Given the description of an element on the screen output the (x, y) to click on. 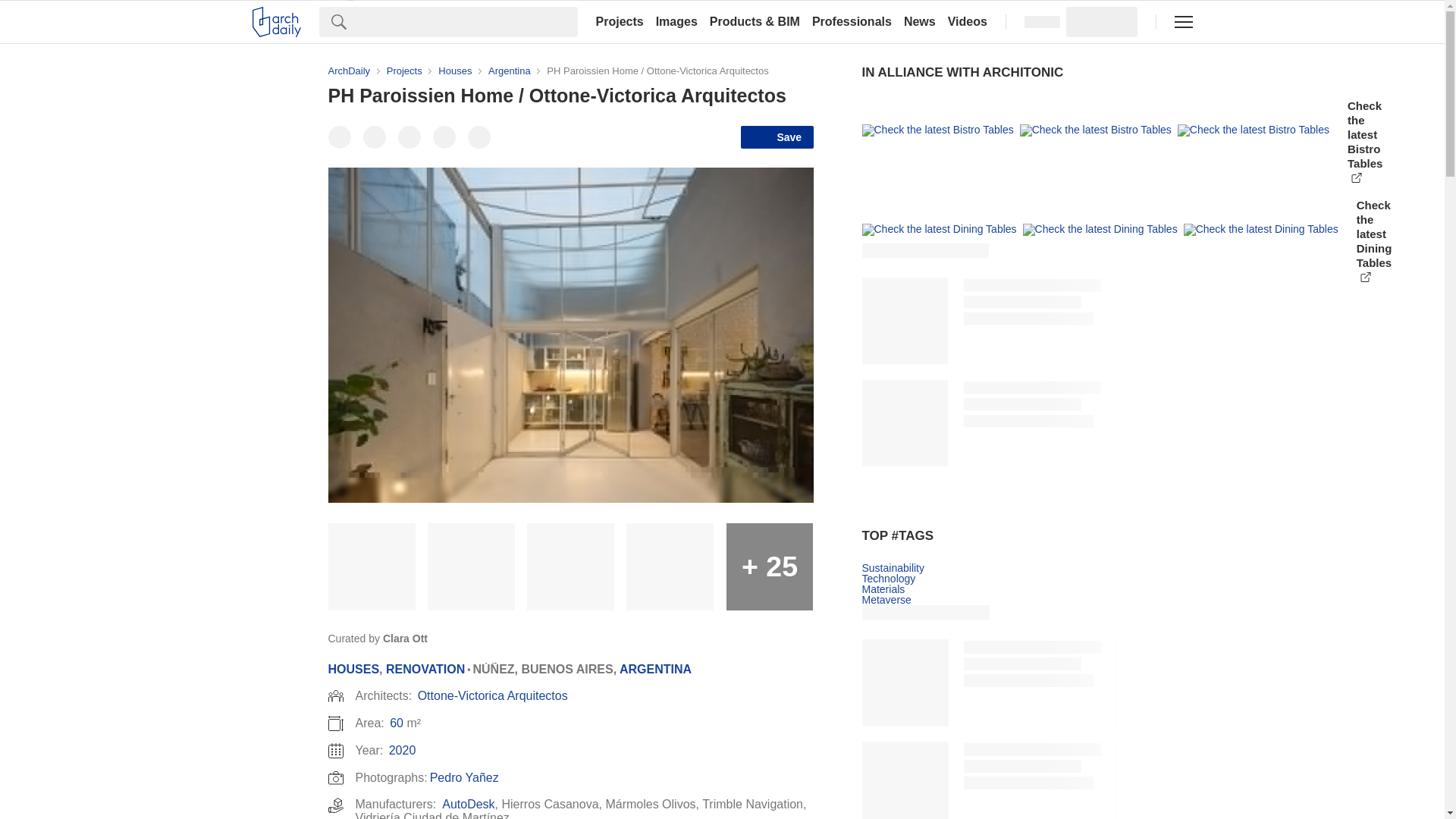
Professionals (852, 21)
Projects (619, 21)
Images (676, 21)
News (920, 21)
Videos (967, 21)
